Given the description of an element on the screen output the (x, y) to click on. 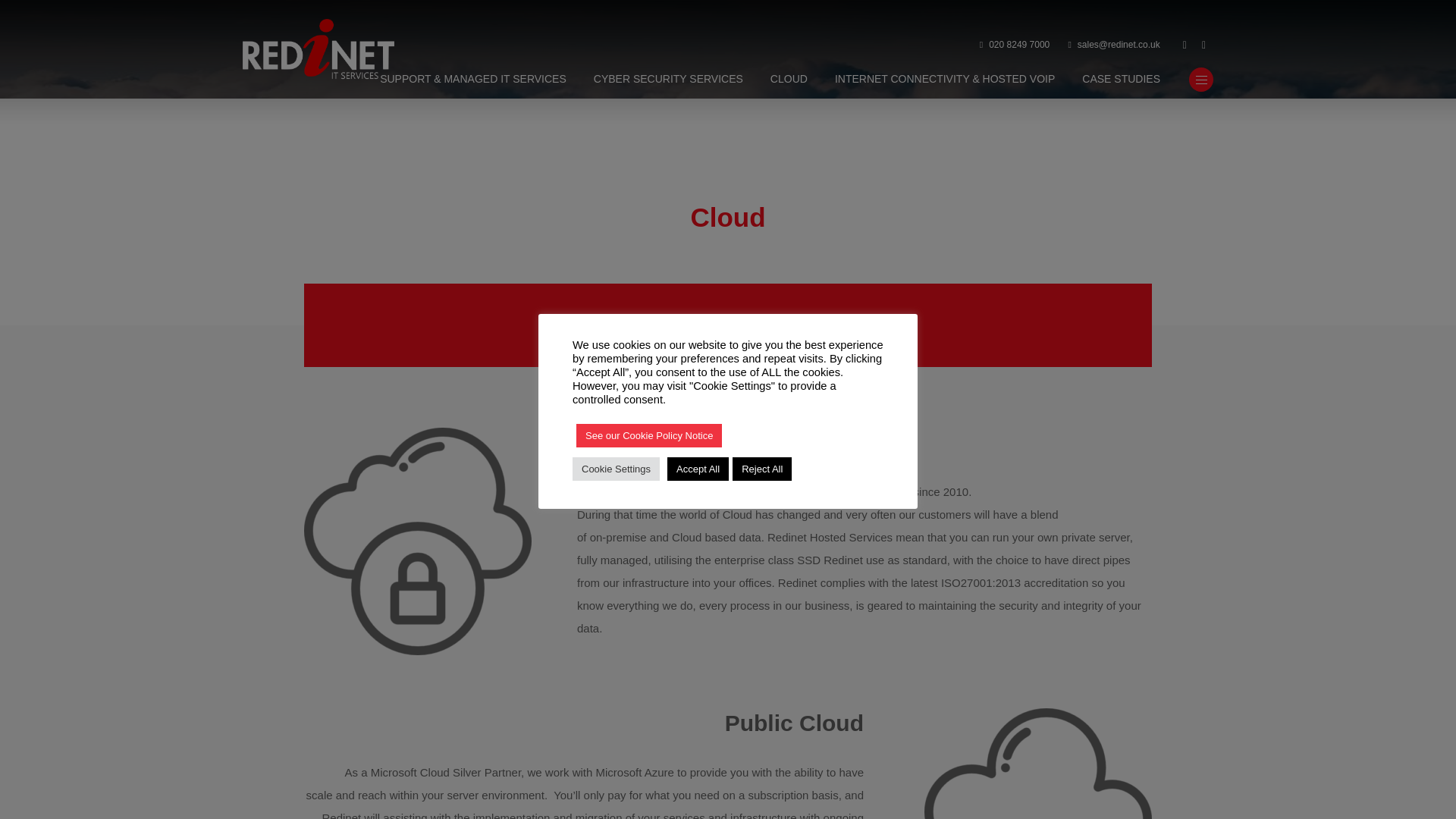
CYBER SECURITY SERVICES (668, 79)
CASE STUDIES (1120, 79)
Reject All (762, 467)
See our Cookie Policy Notice (649, 434)
CLOUD (789, 79)
020 8249 7000 (1014, 45)
CYBER SECURITY SERVICES (668, 79)
CLOUD (789, 79)
Accept All (697, 467)
Cookie Settings (615, 467)
